Given the description of an element on the screen output the (x, y) to click on. 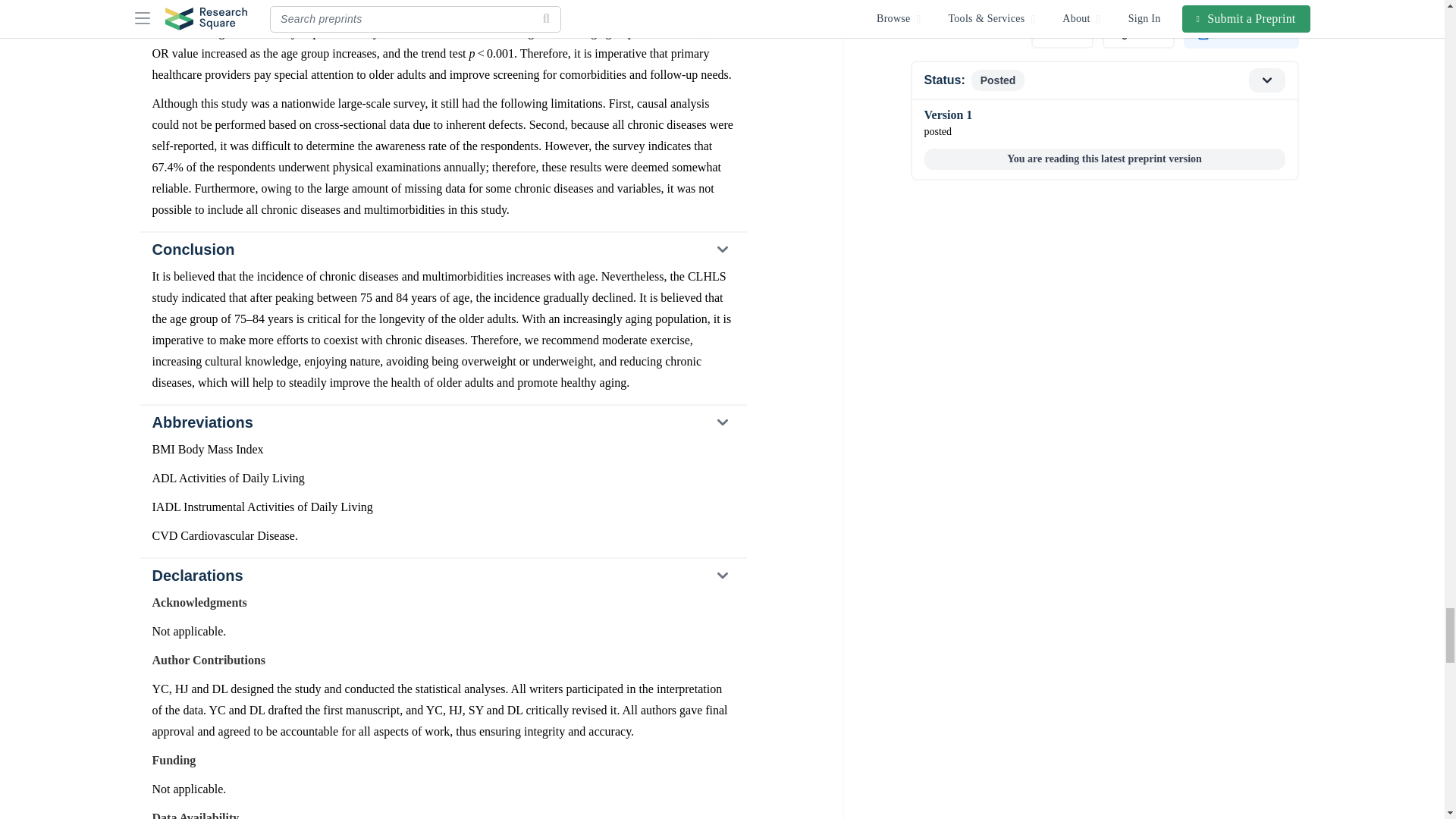
Declarations (442, 575)
Conclusion (442, 249)
Abbreviations (442, 421)
